Given the description of an element on the screen output the (x, y) to click on. 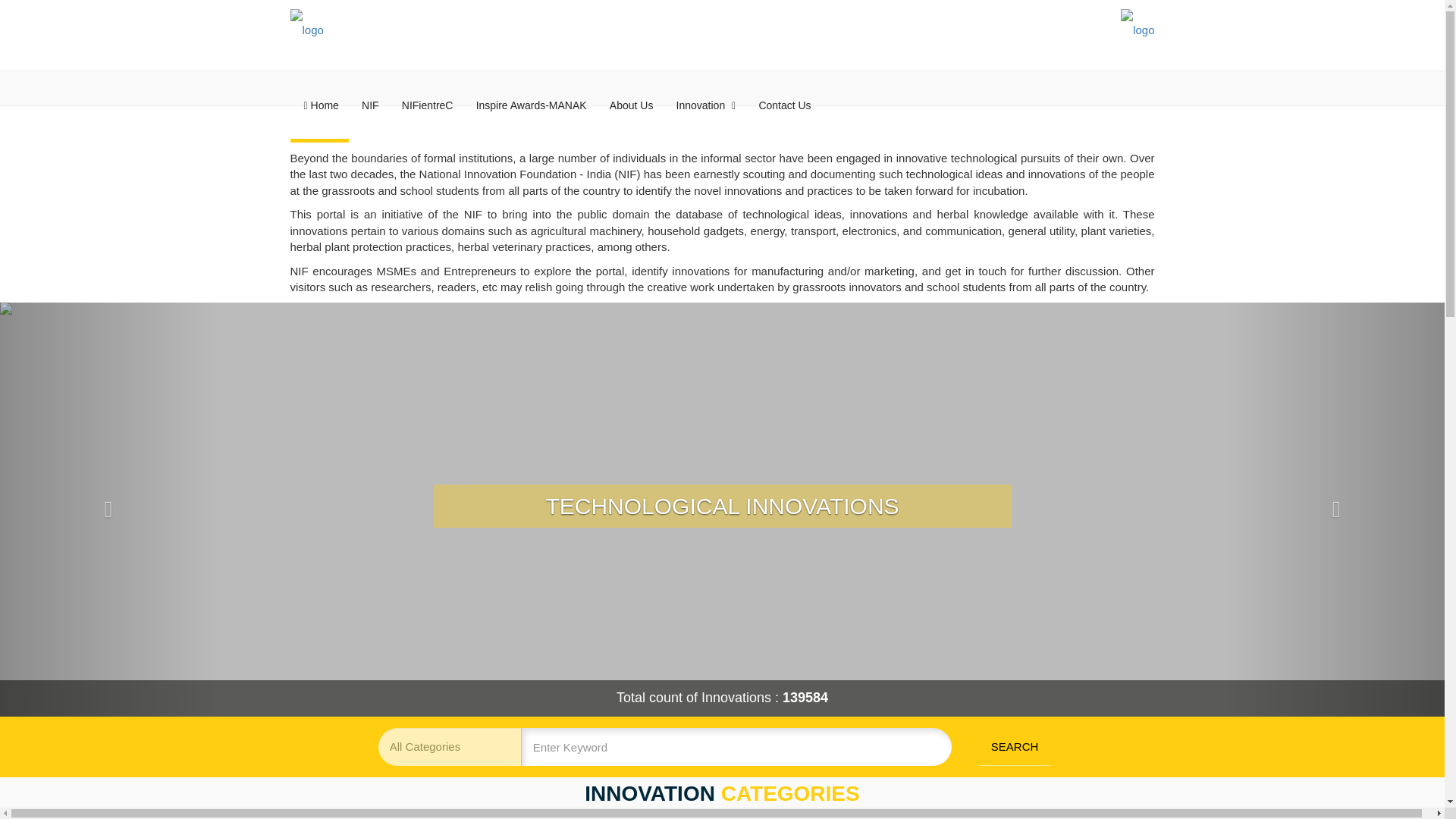
Innovation (705, 104)
About Us (631, 104)
Contact Us (784, 104)
Inspire Awards-MANAK (530, 104)
NIFientreC (427, 104)
SEARCH (1013, 746)
Scroll (1417, 770)
